Given the description of an element on the screen output the (x, y) to click on. 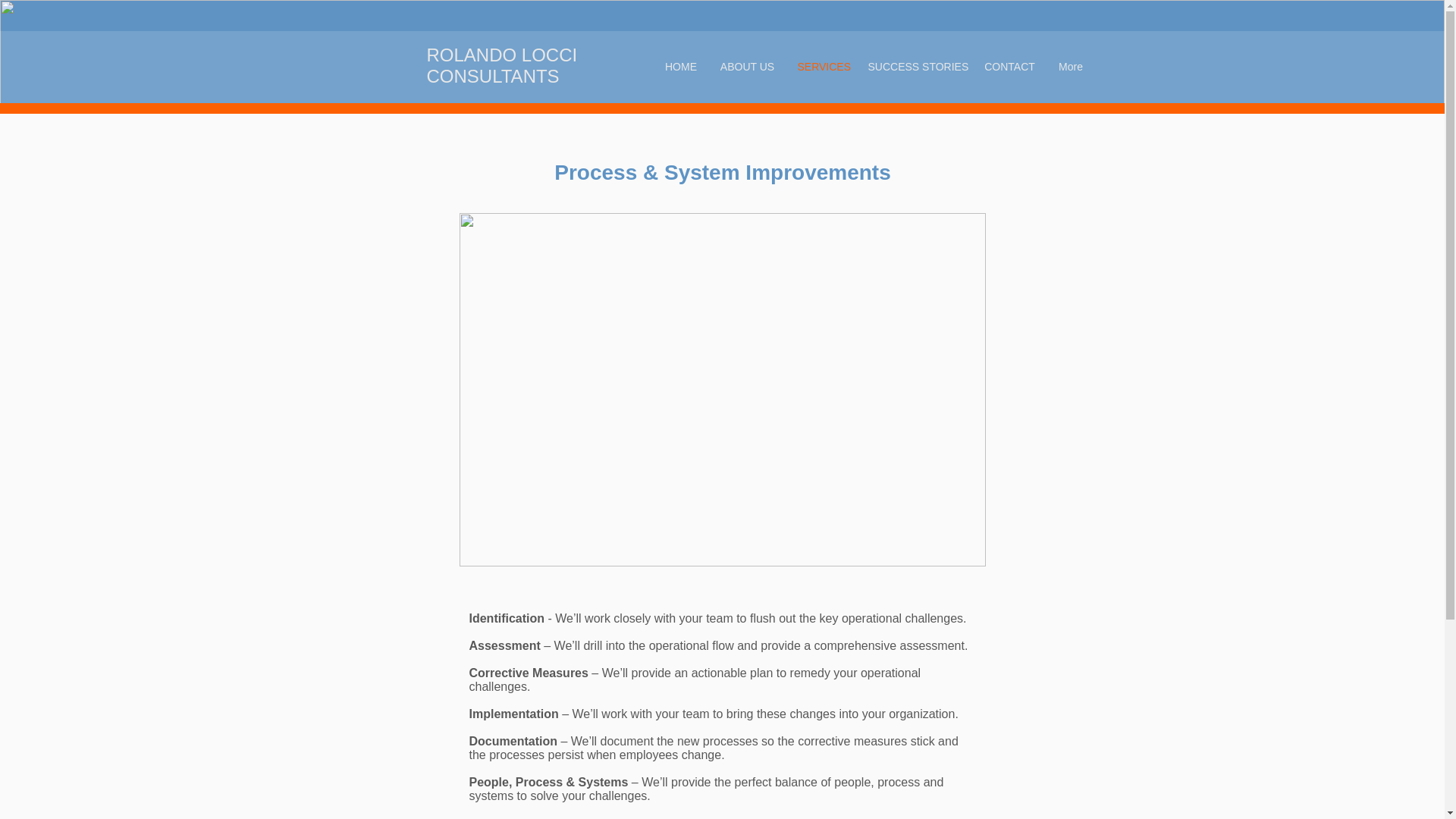
SUCCESS STORIES (914, 66)
CONTACT (1009, 66)
ROLANDO LOCCI CONSULTANTS (501, 65)
ABOUT US (746, 66)
SERVICES (821, 66)
HOME (681, 66)
